Given the description of an element on the screen output the (x, y) to click on. 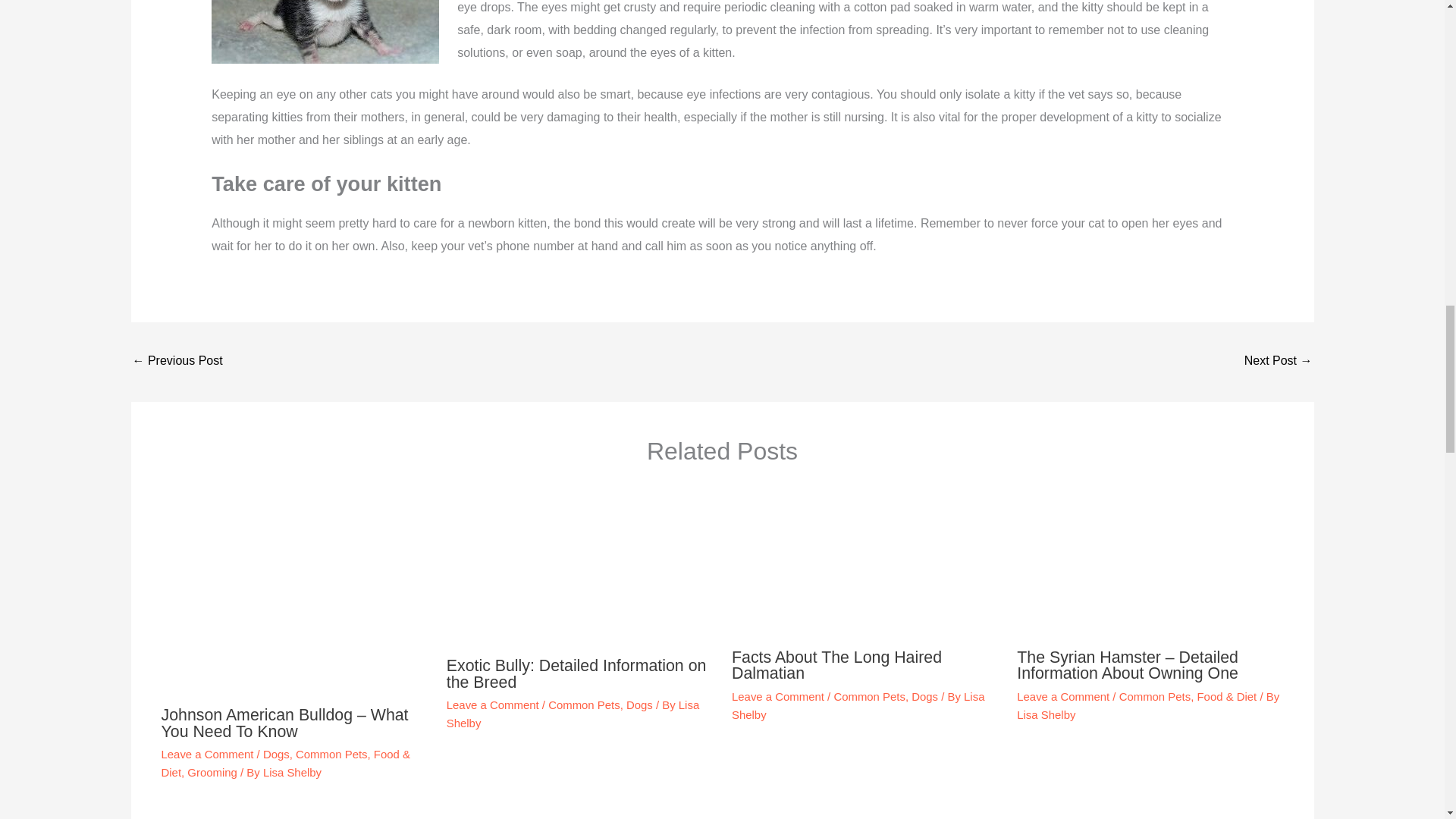
Exotic Bully: Detailed Information on the Breed 5 (579, 566)
The Syrian Hamster - Detailed Information About Owning One 7 (1149, 562)
View all posts by Lisa Shelby (572, 713)
Johnson American Bulldog - What You Need To Know 4 (293, 591)
How Many Kittens Can a cat Have in a Single Litter? (1278, 361)
When do Kittens Open Their Eyes? 3 (325, 31)
Are Sharks Friendly? (177, 361)
View all posts by Lisa Shelby (858, 705)
View all posts by Lisa Shelby (292, 771)
Facts About The Long Haired Dalmatian 6 (864, 562)
